Given the description of an element on the screen output the (x, y) to click on. 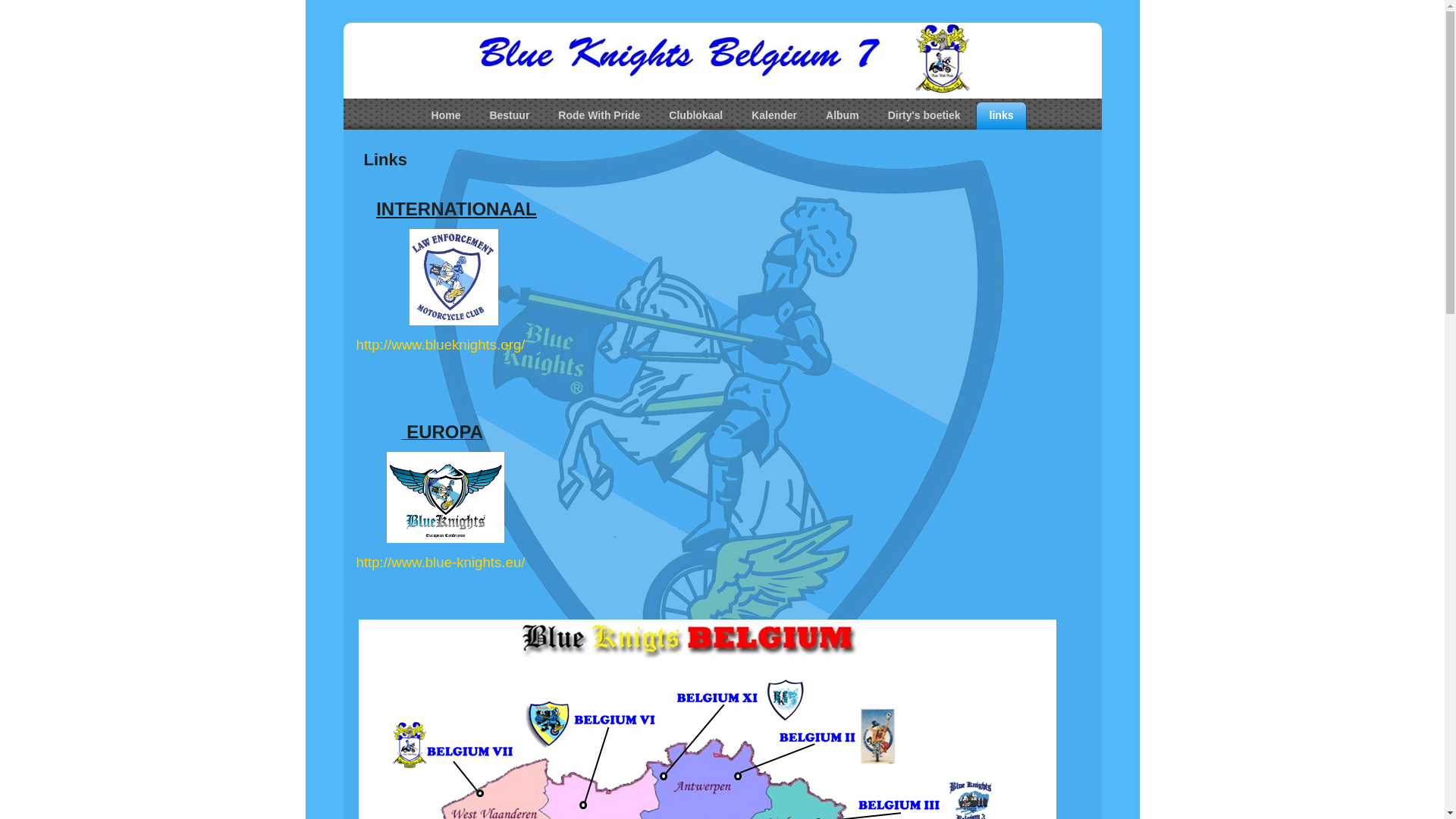
Home Element type: text (445, 114)
links Element type: text (1001, 115)
http://www.blue-knights.eu/ Element type: text (440, 562)
Clublokaal Element type: text (695, 114)
Bestuur Element type: text (508, 114)
Kalender Element type: text (773, 114)
http://www.blueknights.org/ Element type: text (440, 344)
Rode With Pride Element type: text (598, 114)
Dirty's boetiek Element type: text (924, 114)
Album Element type: text (842, 114)
